Given the description of an element on the screen output the (x, y) to click on. 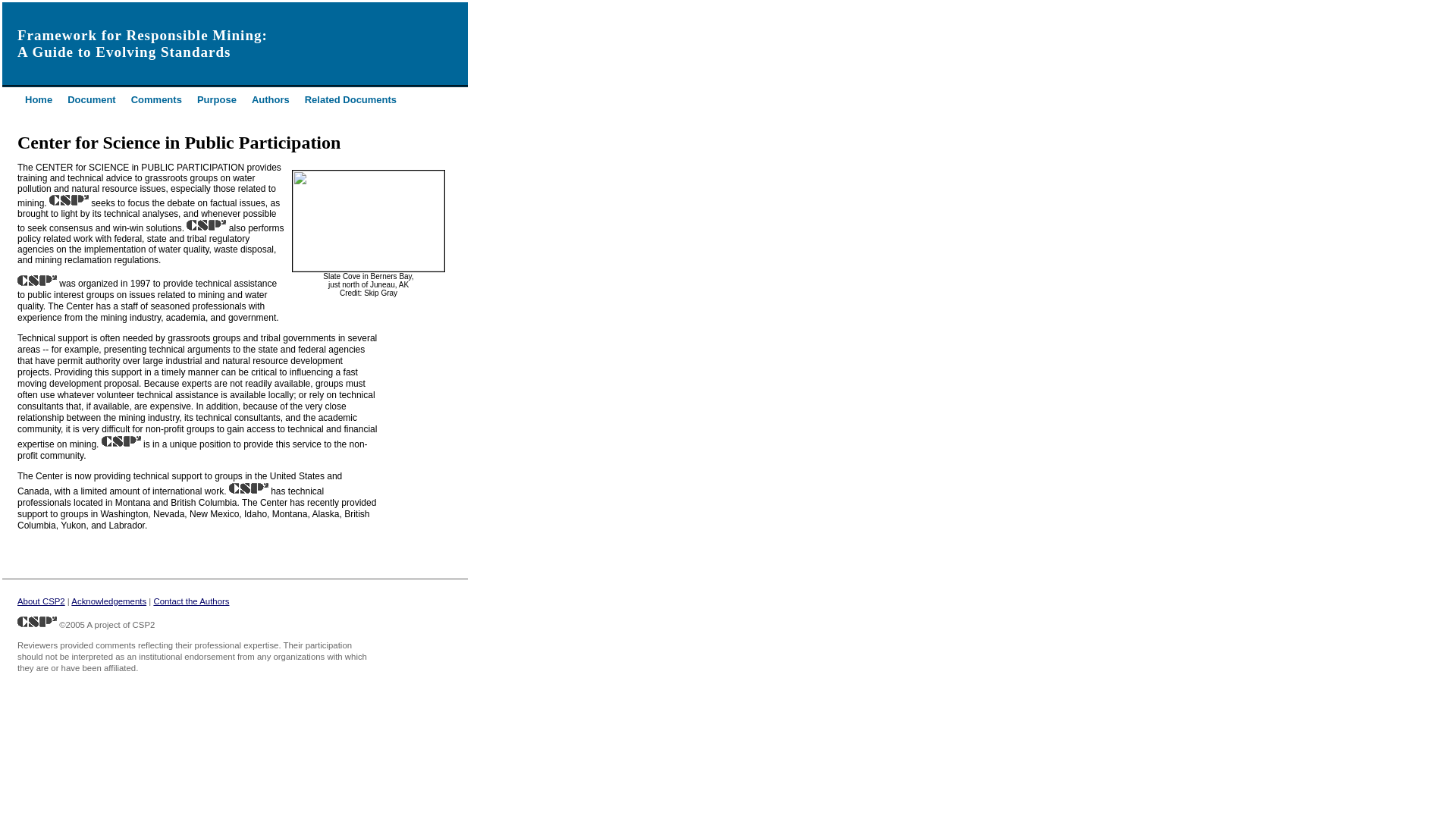
Comments (156, 101)
Purpose (215, 101)
Contact the Authors (190, 601)
Home (38, 101)
Document (91, 101)
Acknowledgements (109, 601)
About CSP2 (41, 601)
Authors (270, 101)
Related Documents (350, 101)
